Given the description of an element on the screen output the (x, y) to click on. 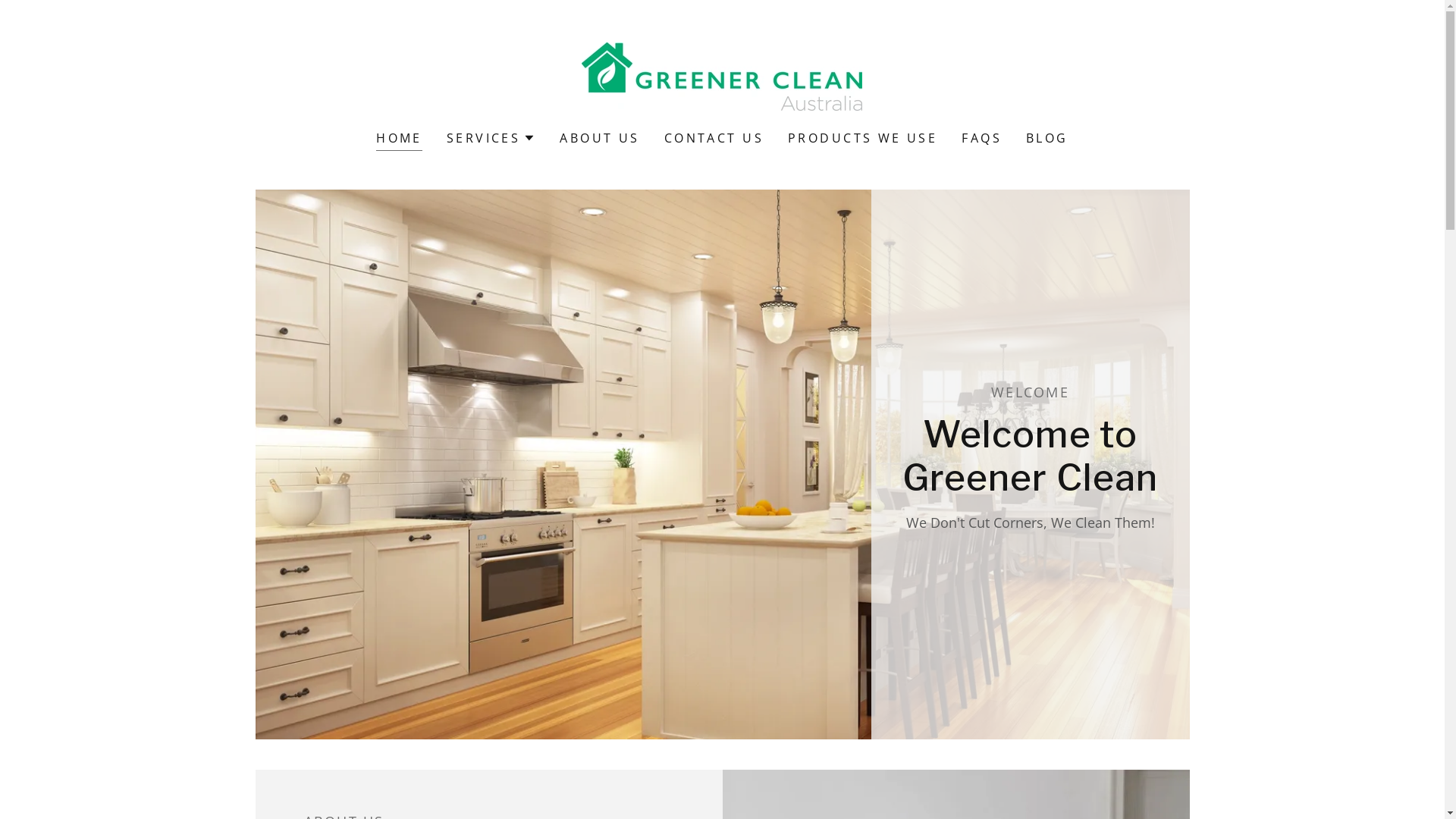
ABOUT US Element type: text (599, 137)
PRODUCTS WE USE Element type: text (862, 137)
BLOG Element type: text (1047, 137)
SERVICES Element type: text (490, 137)
CONTACT US Element type: text (713, 137)
FAQS Element type: text (981, 137)
HOME Element type: text (399, 139)
